Given the description of an element on the screen output the (x, y) to click on. 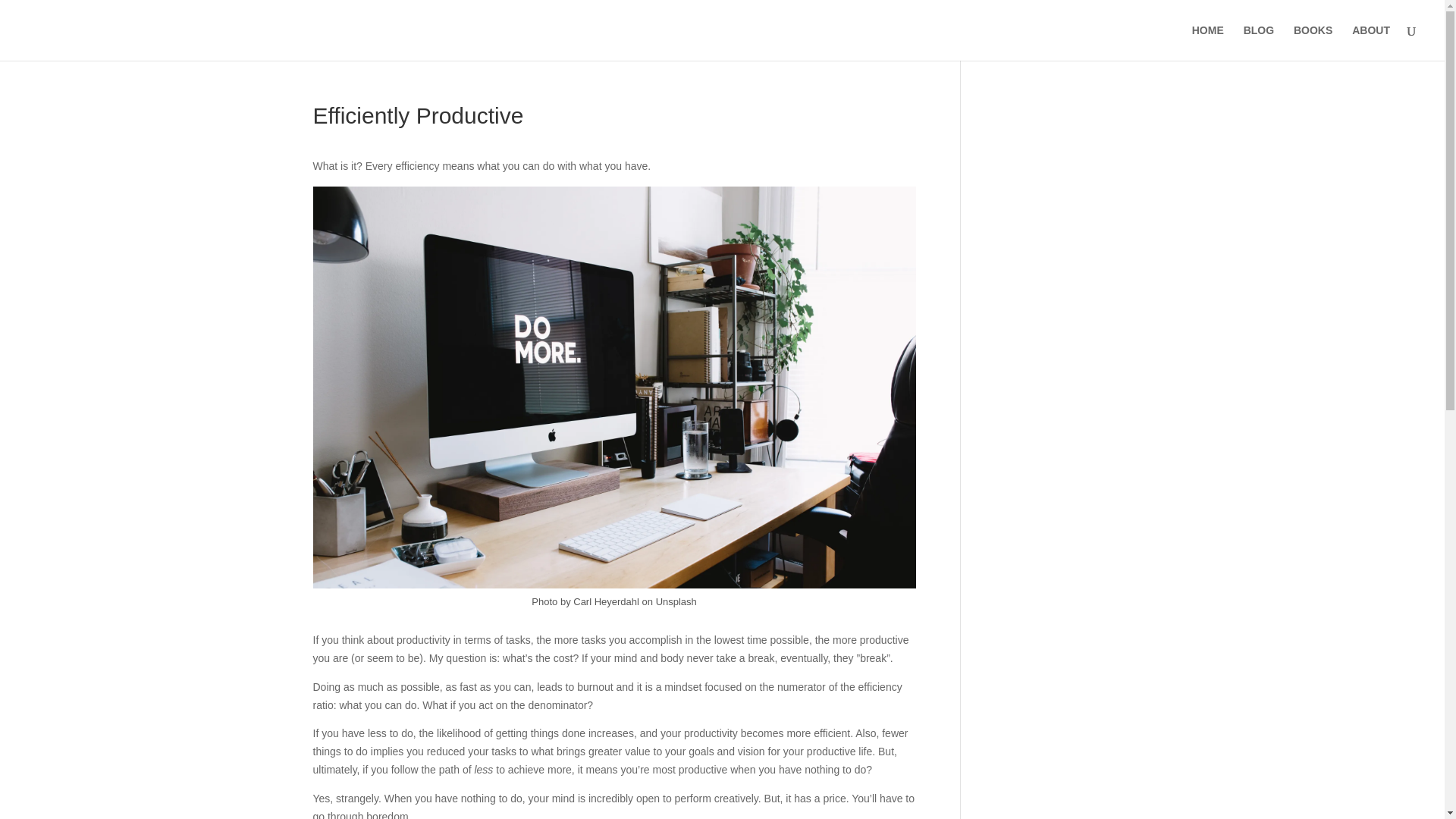
HOME (1208, 42)
BOOKS (1313, 42)
ABOUT (1371, 42)
